Given the description of an element on the screen output the (x, y) to click on. 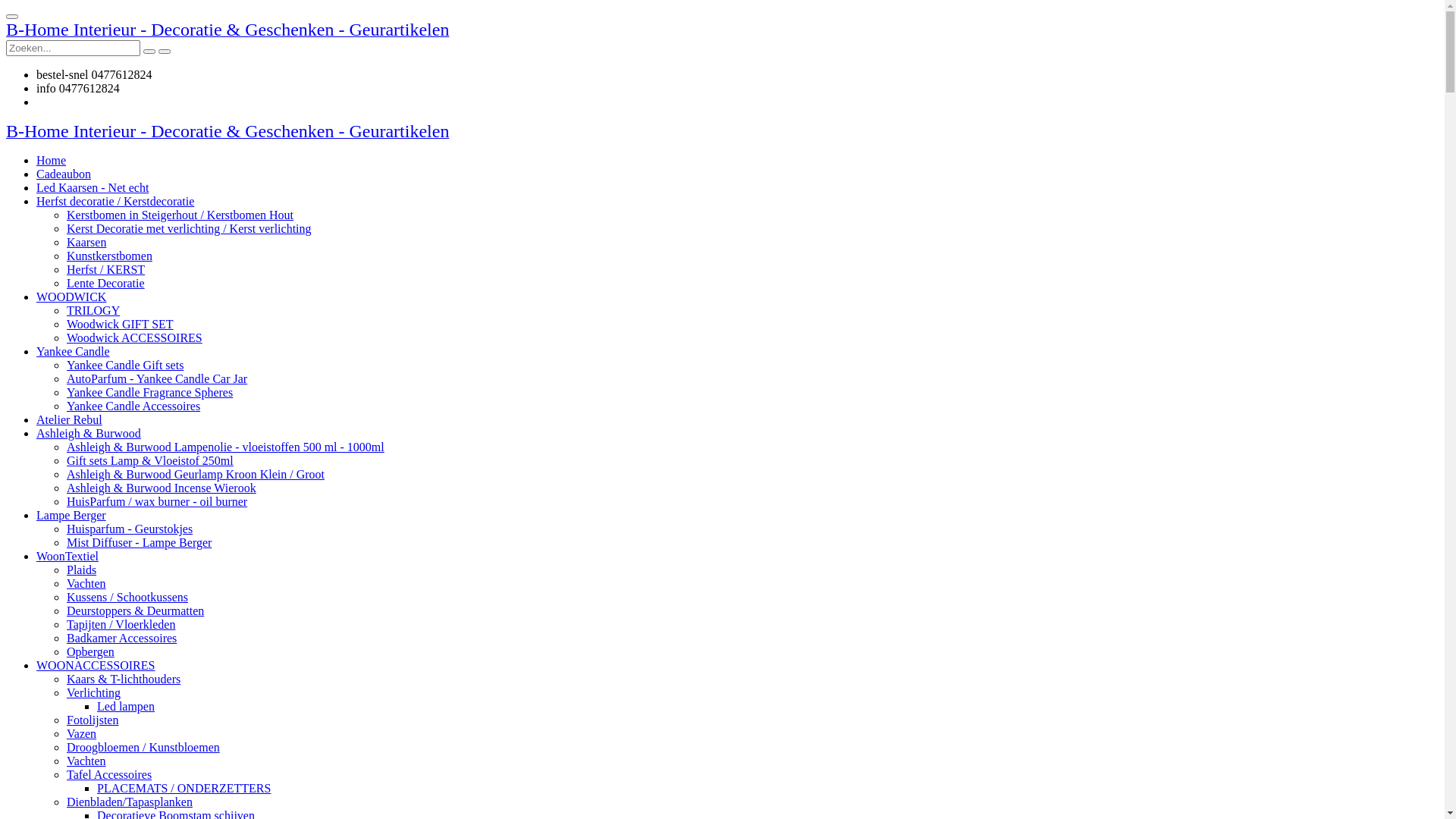
Gift sets Lamp & Vloeistof 250ml Element type: text (149, 460)
Kussens / Schootkussens Element type: text (127, 596)
Ashleigh & Burwood Incense Wierook Element type: text (161, 487)
Dienbladen/Tapasplanken Element type: text (129, 801)
Vachten Element type: text (86, 760)
Lente Decoratie Element type: text (105, 282)
Kerstbomen in Steigerhout / Kerstbomen Hout Element type: text (179, 214)
B-Home Interieur - Decoratie & Geschenken - Geurartikelen Element type: text (227, 132)
WoonTextiel Element type: text (67, 555)
Herfst / KERST Element type: text (105, 269)
Vazen Element type: text (81, 733)
Woodwick ACCESSOIRES Element type: text (134, 337)
Home Element type: text (50, 159)
TRILOGY Element type: text (92, 310)
Plaids Element type: text (81, 569)
Droogbloemen / Kunstbloemen Element type: text (142, 746)
Led Kaarsen - Net echt Element type: text (92, 187)
Ashleigh & Burwood Lampenolie - vloeistoffen 500 ml - 1000ml Element type: text (225, 446)
Yankee Candle Gift sets Element type: text (124, 364)
Badkamer Accessoires Element type: text (121, 637)
Lampe Berger Element type: text (71, 514)
AutoParfum - Yankee Candle Car Jar Element type: text (156, 378)
WOONACCESSOIRES Element type: text (95, 664)
Tapijten / Vloerkleden Element type: text (120, 624)
Huisparfum - Geurstokjes Element type: text (129, 528)
Tafel Accessoires Element type: text (108, 774)
HuisParfum / wax burner - oil burner Element type: text (156, 501)
Fotolijsten Element type: text (92, 719)
B-Home Interieur - Decoratie & Geschenken - Geurartikelen Element type: text (227, 31)
Deurstoppers & Deurmatten Element type: text (134, 610)
Ashleigh & Burwood Geurlamp Kroon Klein / Groot Element type: text (195, 473)
Yankee Candle Fragrance Spheres Element type: text (149, 391)
Opbergen Element type: text (90, 651)
Verlichting Element type: text (93, 692)
Mist Diffuser - Lampe Berger Element type: text (138, 542)
Cadeaubon Element type: text (63, 173)
Vachten Element type: text (86, 583)
Kaars & T-lichthouders Element type: text (123, 678)
Kunstkerstbomen Element type: text (109, 255)
WOODWICK Element type: text (71, 296)
Led lampen Element type: text (125, 705)
Yankee Candle Accessoires Element type: text (133, 405)
Woodwick GIFT SET Element type: text (119, 323)
Herfst decoratie / Kerstdecoratie Element type: text (115, 200)
Ashleigh & Burwood Element type: text (88, 432)
Yankee Candle Element type: text (72, 351)
Kerst Decoratie met verlichting / Kerst verlichting Element type: text (188, 228)
PLACEMATS / ONDERZETTERS Element type: text (183, 787)
Kaarsen Element type: text (86, 241)
Atelier Rebul Element type: text (69, 419)
